Given the description of an element on the screen output the (x, y) to click on. 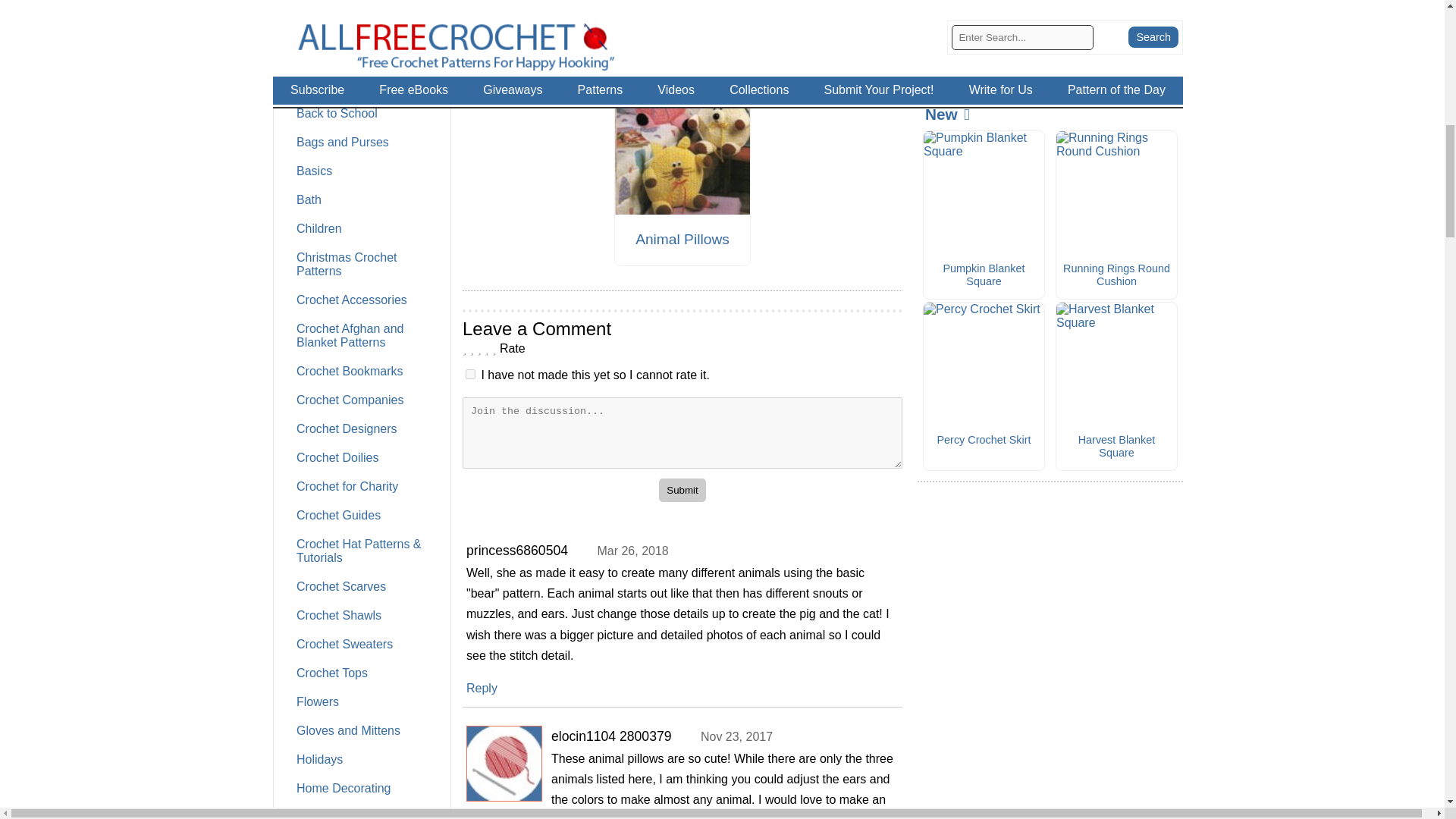
Submit (681, 490)
1 (470, 374)
